Given the description of an element on the screen output the (x, y) to click on. 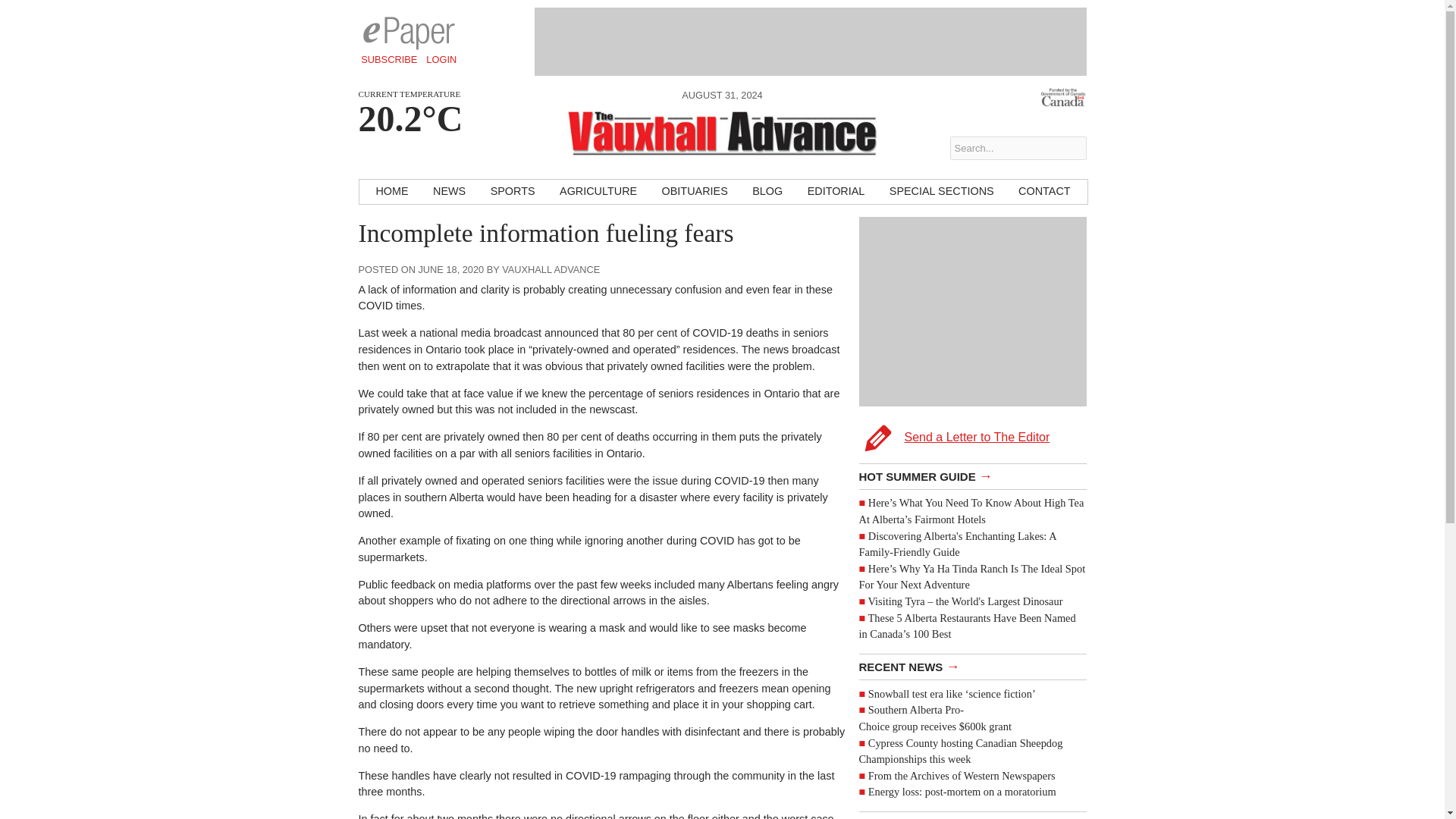
LOGIN (441, 58)
SPORTS (513, 191)
HOME (392, 191)
From the Archives of Western Newspapers (961, 775)
EDITORIAL (836, 191)
OBITUARIES (694, 191)
AGRICULTURE (597, 191)
BLOG (767, 191)
SUBSCRIBE (389, 58)
